Given the description of an element on the screen output the (x, y) to click on. 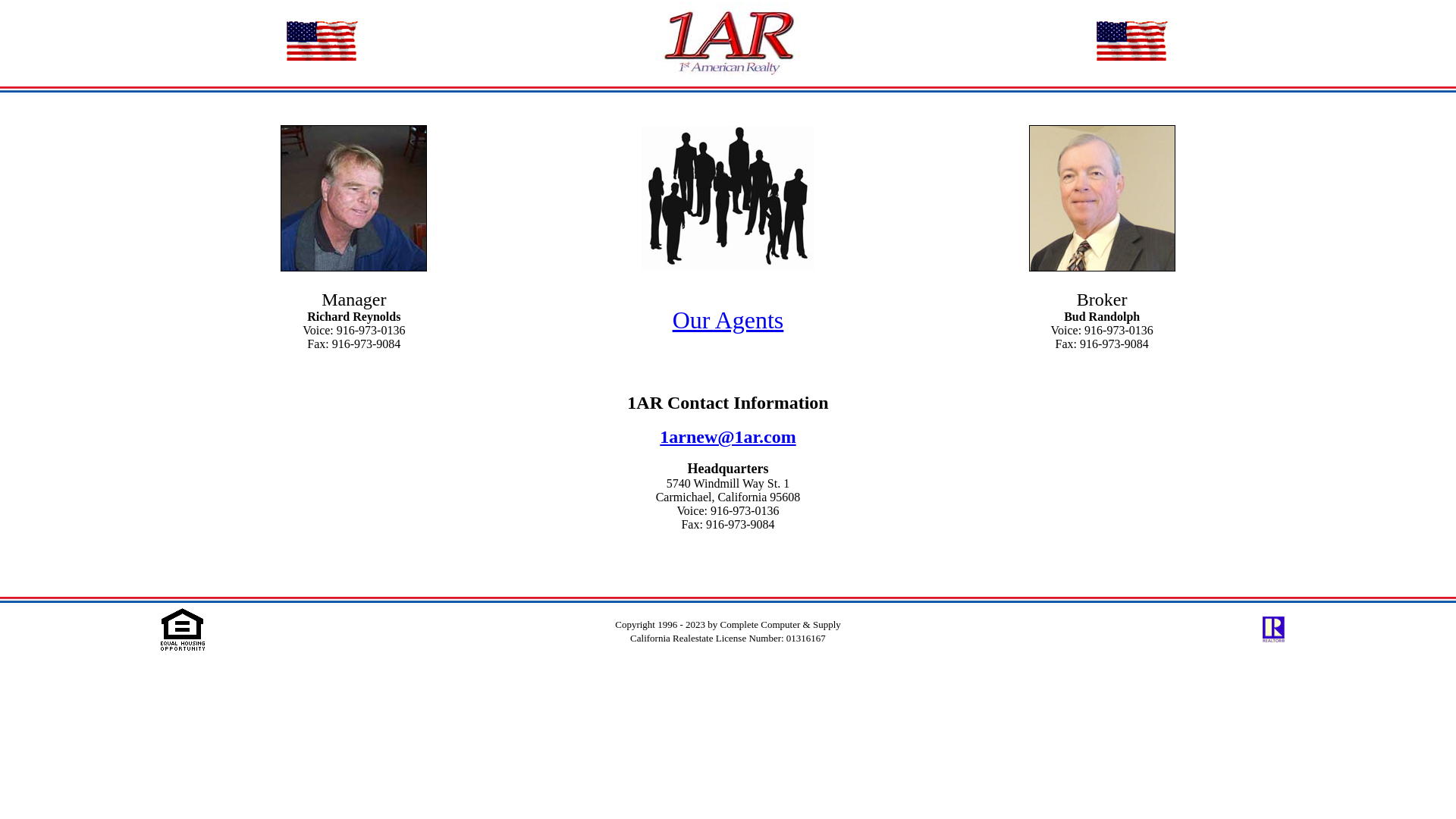
1arnew@1ar.com Element type: text (727, 436)
Our Agents Element type: text (728, 319)
